Given the description of an element on the screen output the (x, y) to click on. 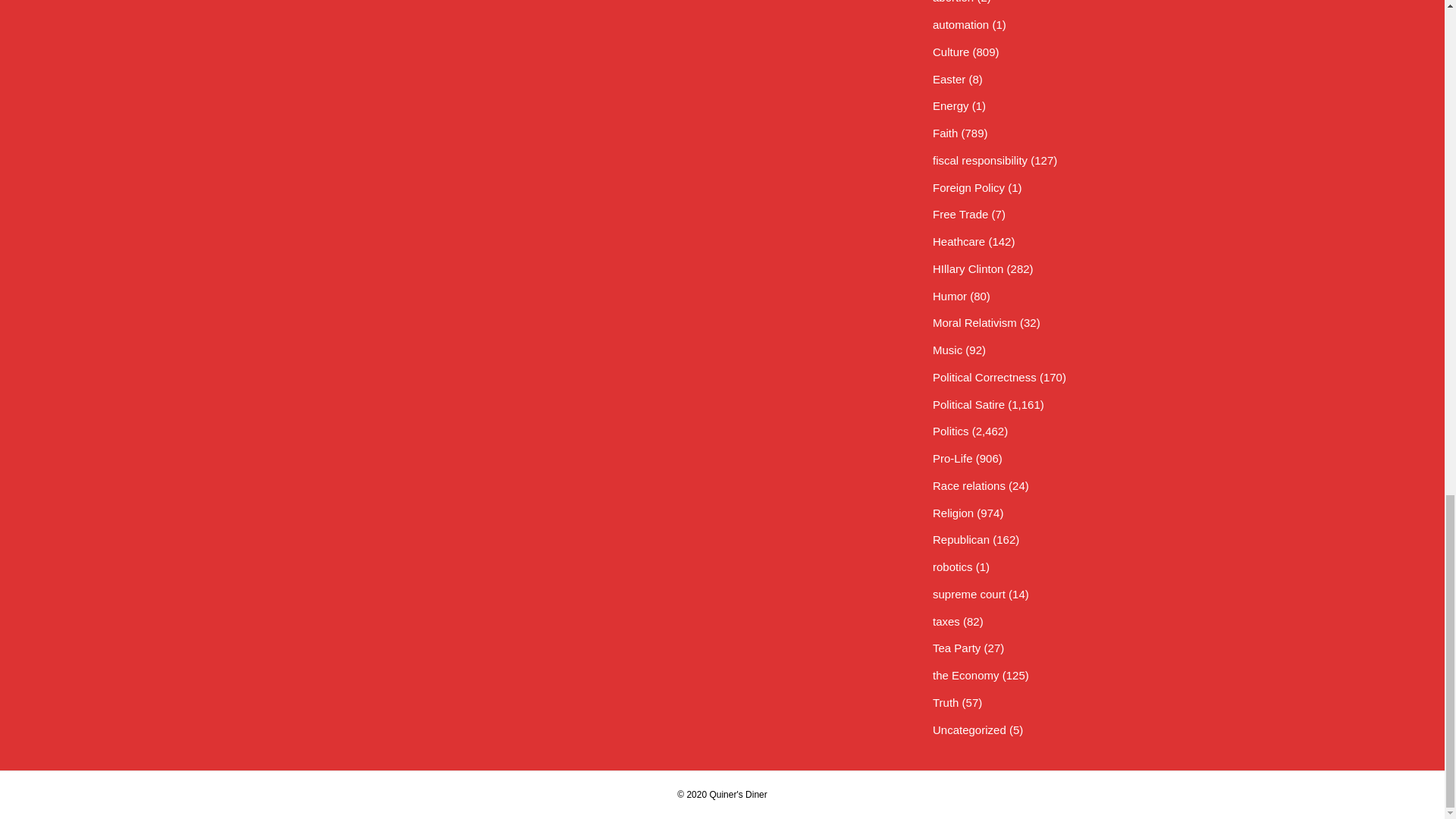
fiscal responsibility (980, 160)
Culture (951, 51)
Foreign Policy (968, 187)
automation (960, 24)
Easter (949, 78)
Energy (951, 105)
Free Trade (960, 214)
abortion (953, 2)
Faith (945, 132)
